Given the description of an element on the screen output the (x, y) to click on. 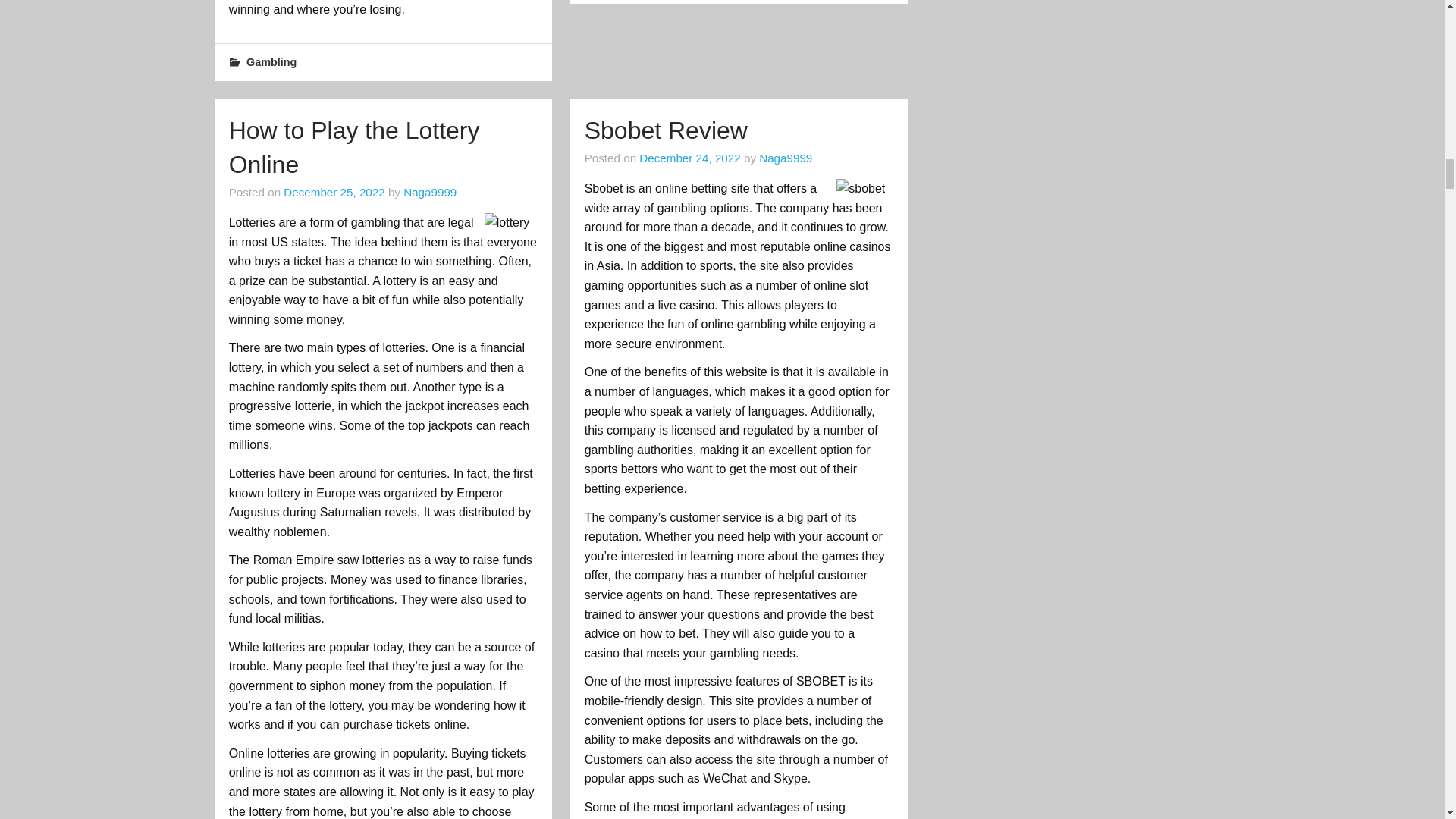
View all posts by Naga9999 (430, 192)
View all posts by Naga9999 (785, 157)
11:42 am (333, 192)
7:45 am (689, 157)
